Given the description of an element on the screen output the (x, y) to click on. 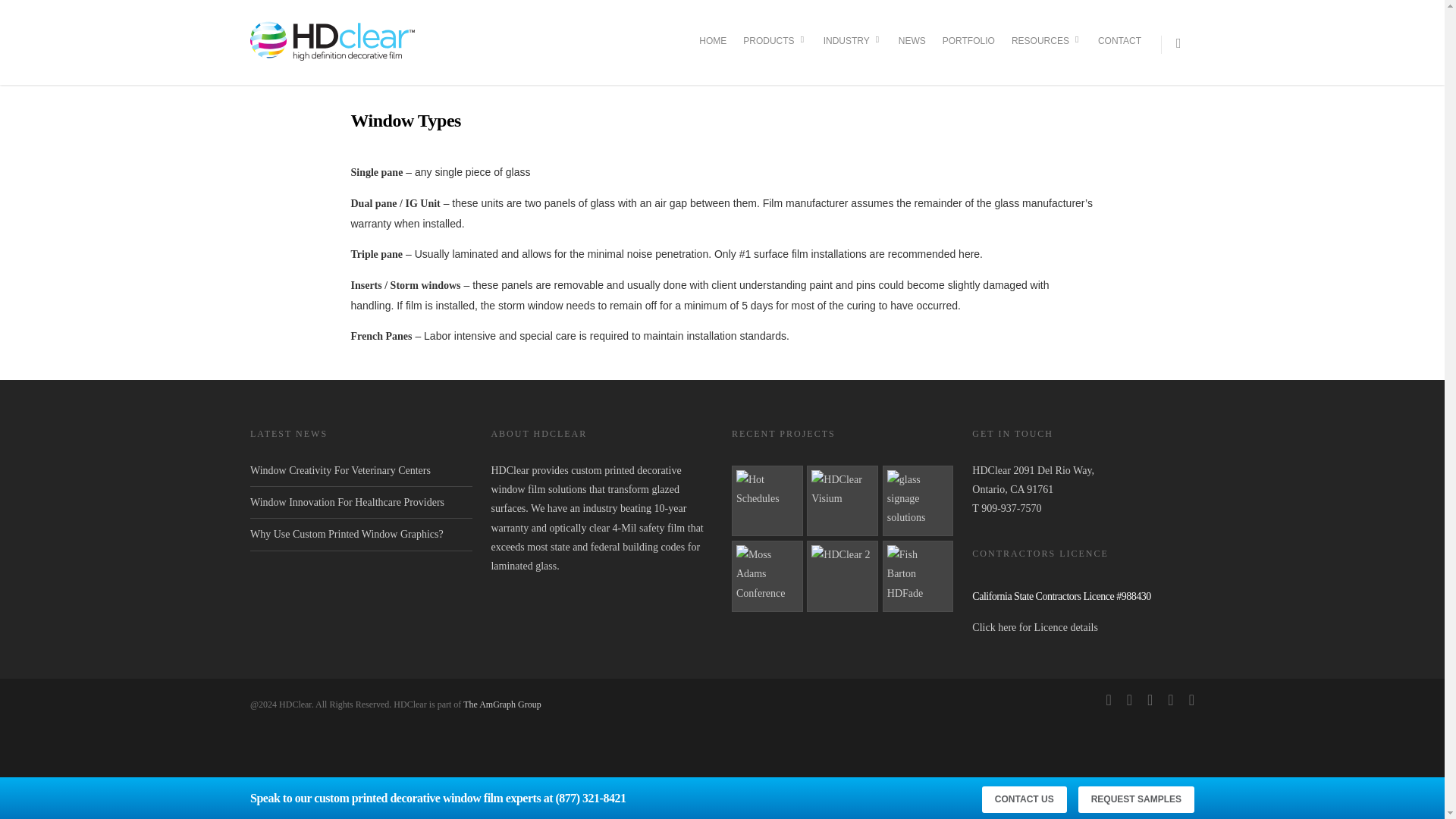
Window Creativity For Veterinary Centers (340, 470)
EcoLab: Custom Interior Graphics (917, 501)
Moss Adams: HDMist and HDWhite (767, 575)
INDUSTRY (852, 53)
Why Use Custom Printed Window Graphics? (347, 533)
HDClear Visium: Dakota Crossing Tower (841, 501)
HDClear 2 with Vinyl Lettering (841, 575)
HDFade: Fisher Barton (917, 575)
PORTFOLIO (968, 51)
PRODUCTS (774, 53)
CONTACT (1119, 51)
Window Innovation For Healthcare Providers (347, 501)
RESOURCES (1046, 53)
HDWhite: Rejuvenate sand-blasted glass (767, 501)
